Given the description of an element on the screen output the (x, y) to click on. 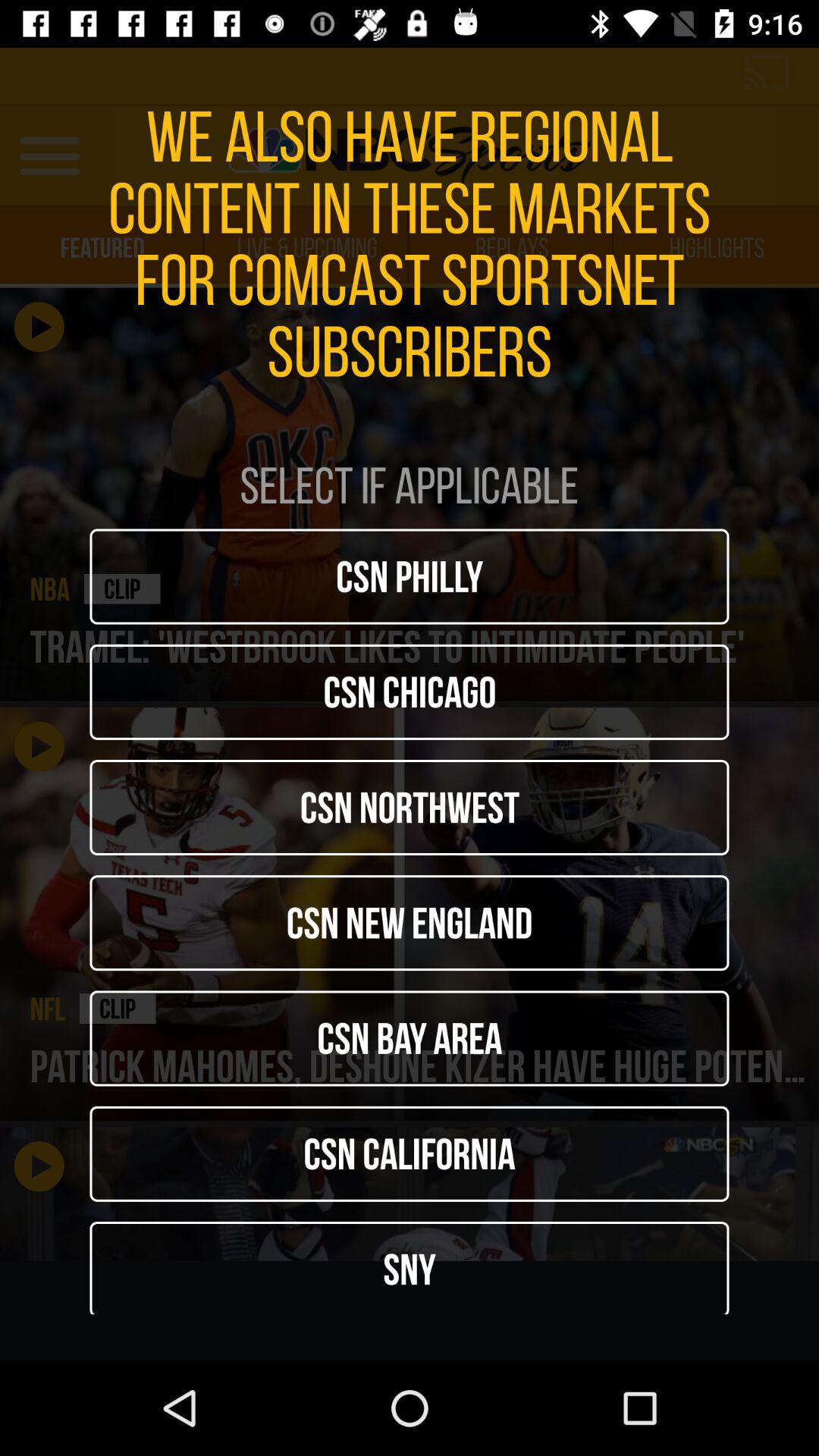
click the csn northwest item (409, 807)
